Given the description of an element on the screen output the (x, y) to click on. 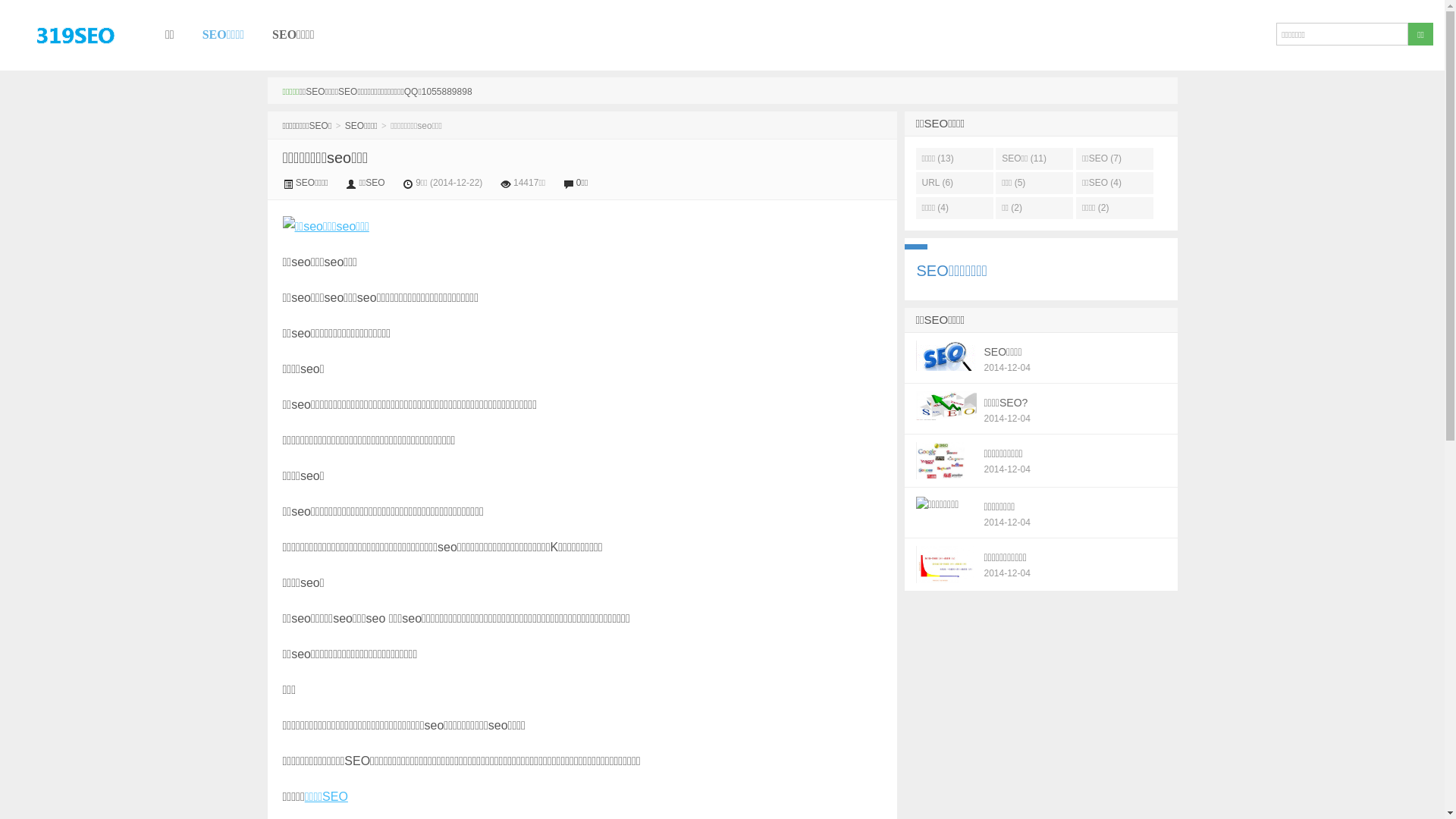
URL (6) Element type: text (954, 183)
